Given the description of an element on the screen output the (x, y) to click on. 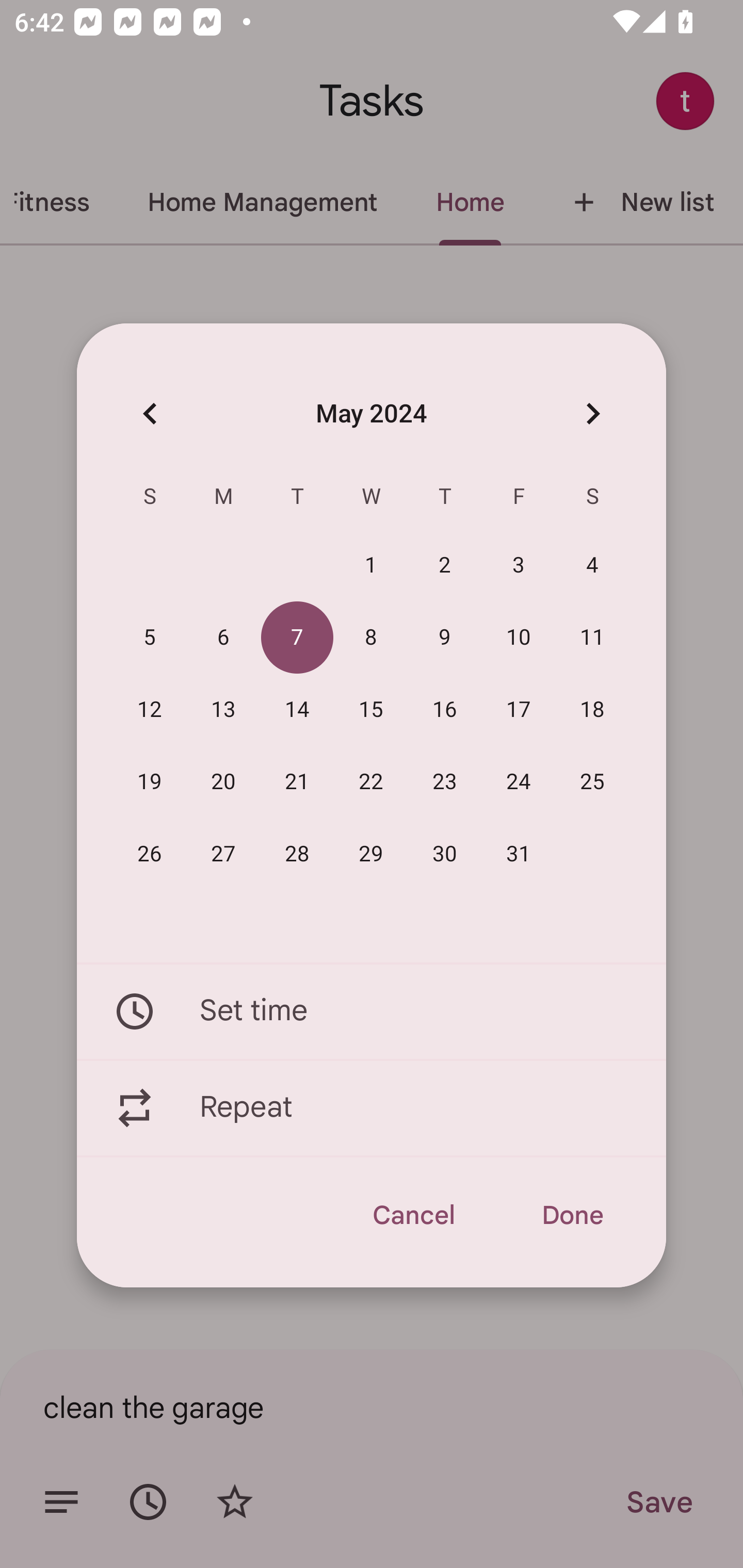
Previous month (149, 413)
Next month (592, 413)
1 01 May 2024 (370, 565)
2 02 May 2024 (444, 565)
3 03 May 2024 (518, 565)
4 04 May 2024 (592, 565)
5 05 May 2024 (149, 638)
6 06 May 2024 (223, 638)
7 07 May 2024 (297, 638)
8 08 May 2024 (370, 638)
9 09 May 2024 (444, 638)
10 10 May 2024 (518, 638)
11 11 May 2024 (592, 638)
12 12 May 2024 (149, 710)
13 13 May 2024 (223, 710)
14 14 May 2024 (297, 710)
15 15 May 2024 (370, 710)
16 16 May 2024 (444, 710)
17 17 May 2024 (518, 710)
18 18 May 2024 (592, 710)
19 19 May 2024 (149, 782)
20 20 May 2024 (223, 782)
21 21 May 2024 (297, 782)
22 22 May 2024 (370, 782)
23 23 May 2024 (444, 782)
24 24 May 2024 (518, 782)
25 25 May 2024 (592, 782)
26 26 May 2024 (149, 854)
27 27 May 2024 (223, 854)
28 28 May 2024 (297, 854)
29 29 May 2024 (370, 854)
30 30 May 2024 (444, 854)
31 31 May 2024 (518, 854)
Set time (371, 1011)
Repeat (371, 1108)
Cancel (412, 1215)
Done (571, 1215)
